Given the description of an element on the screen output the (x, y) to click on. 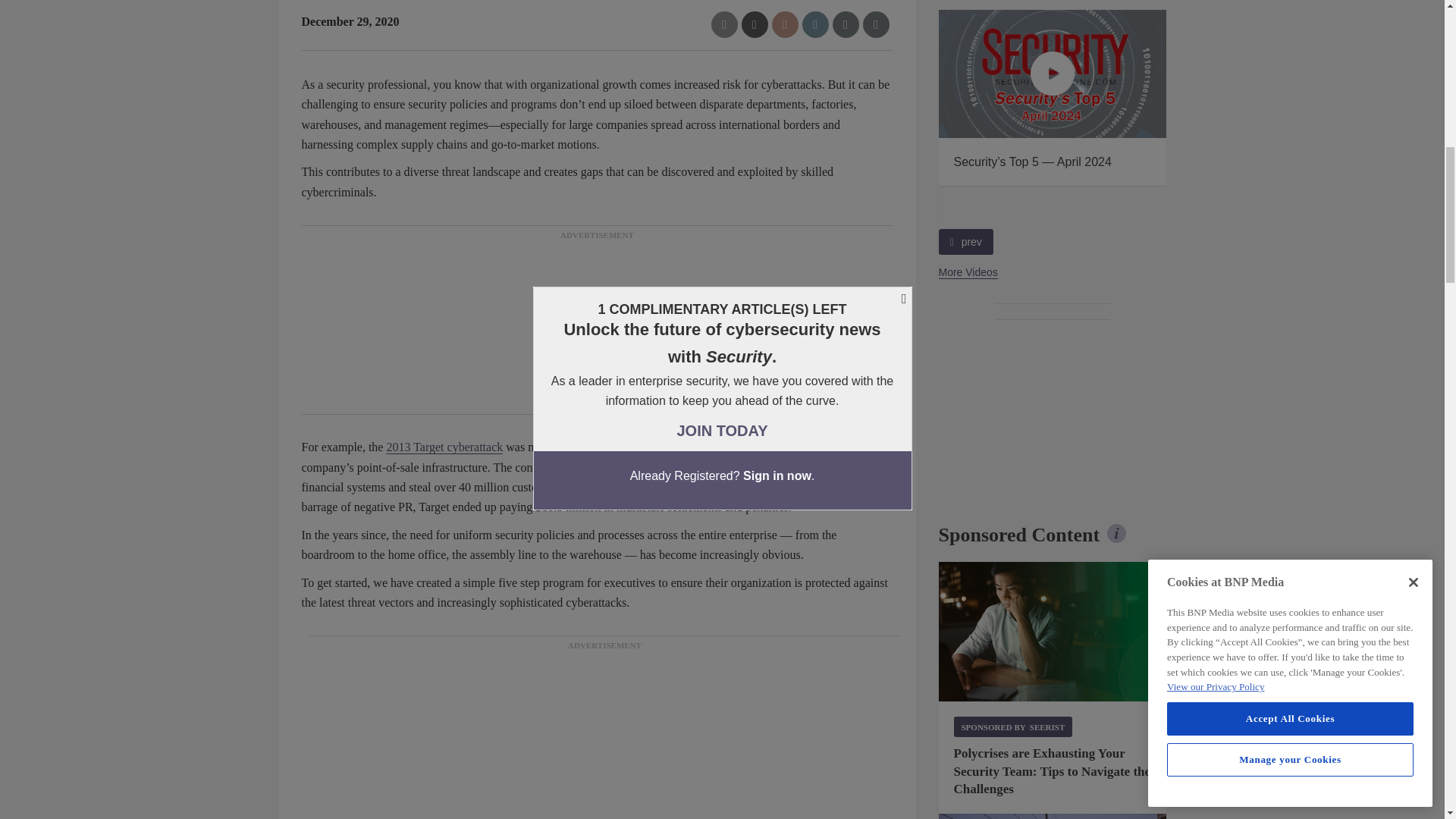
Sponsored by Seerist (1013, 726)
AMAROK Security Gate (1052, 816)
Threat management (1052, 631)
